Given the description of an element on the screen output the (x, y) to click on. 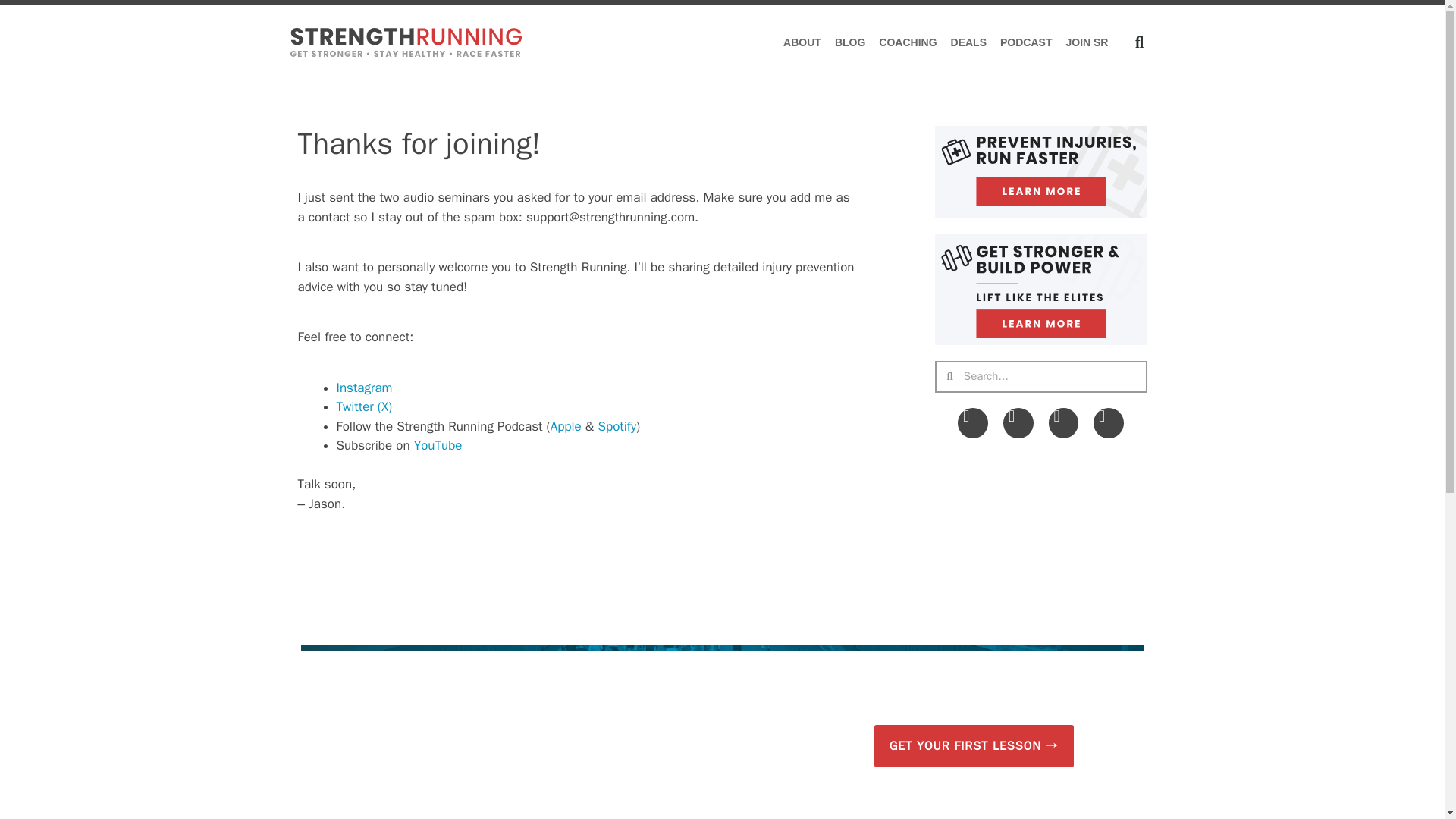
Spotify (616, 426)
Sidebar Injury Prevention (1040, 172)
BLOG (850, 42)
Instagram (364, 386)
YouTube (438, 445)
JOIN SR (1086, 42)
COACHING (907, 42)
PODCAST (1025, 42)
DEALS (967, 42)
ABOUT (802, 42)
Apple (565, 426)
